Given the description of an element on the screen output the (x, y) to click on. 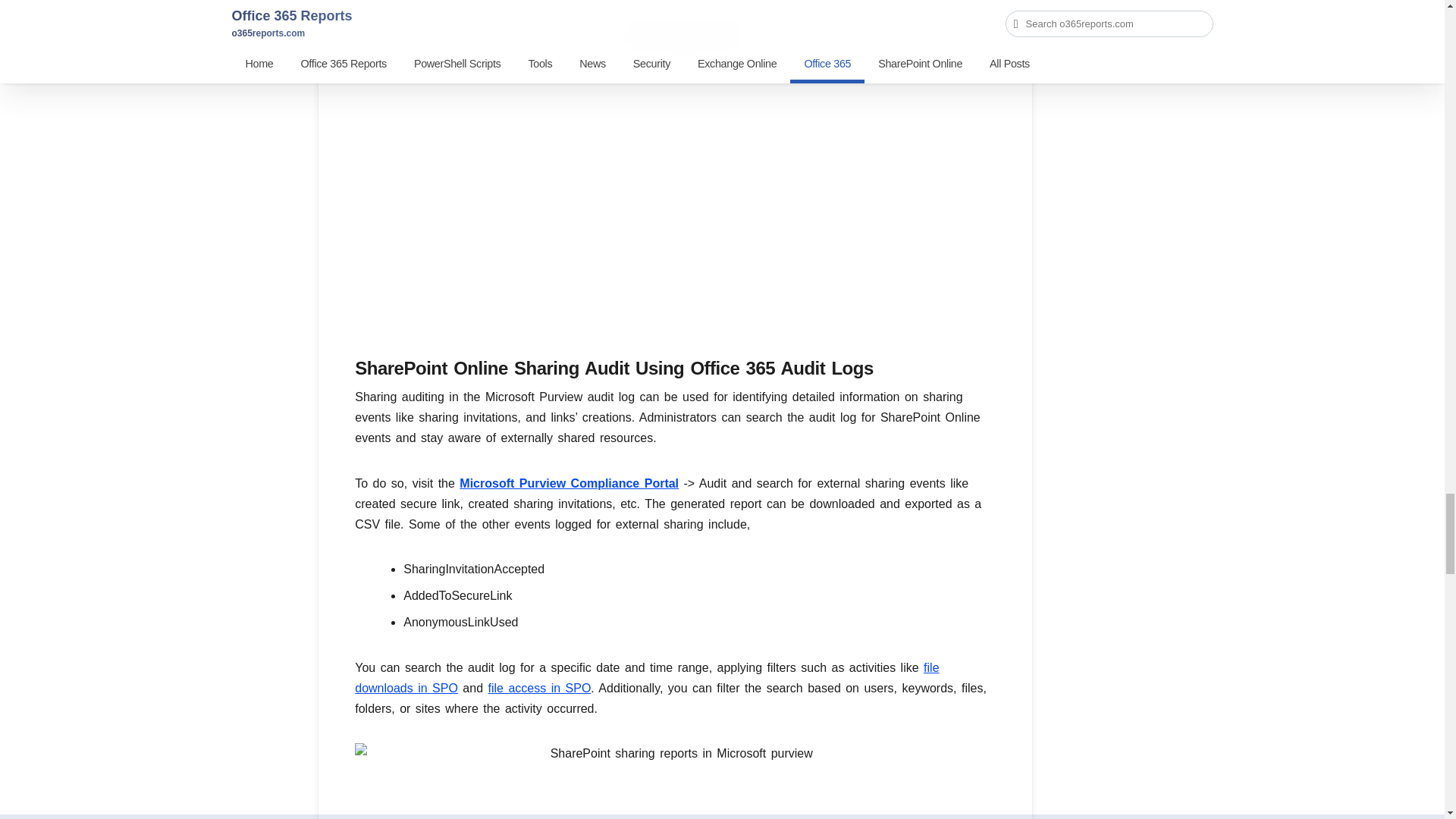
Microsoft Purview Compliance Portal (569, 482)
file downloads in SPO (647, 677)
